Given the description of an element on the screen output the (x, y) to click on. 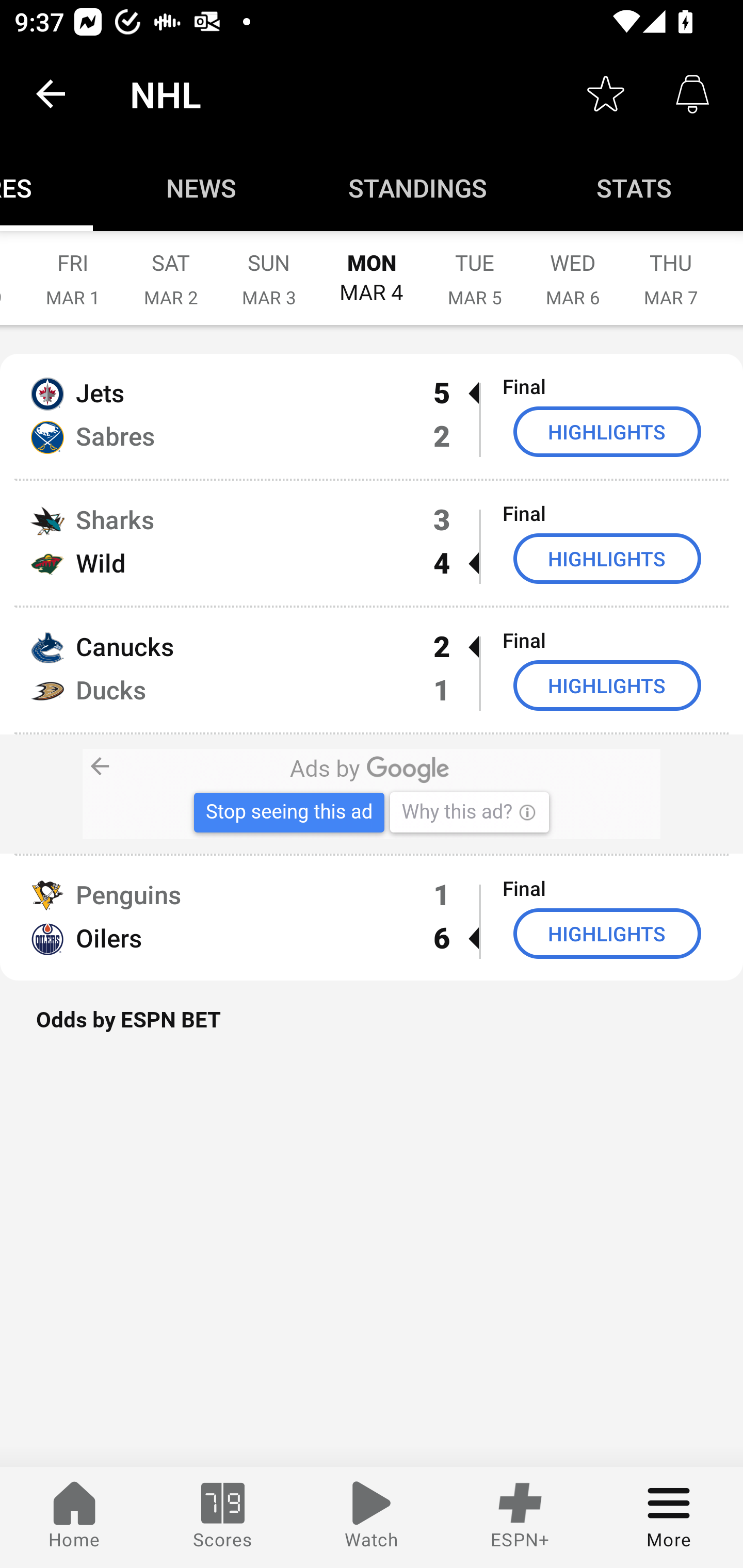
back.button (50, 93)
Favorite toggle (605, 93)
Alerts (692, 93)
News NEWS (200, 187)
Standings STANDINGS (417, 187)
Stats STATS (634, 187)
FRI MAR 1 (72, 268)
SAT MAR 2 (170, 268)
SUN MAR 3 (268, 268)
MON MAR 4 (371, 267)
TUE MAR 5 (474, 268)
WED MAR 6 (572, 268)
THU MAR 7 (670, 268)
Jets 5  Final Sabres 2 HIGHLIGHTS (371, 416)
HIGHLIGHTS (607, 431)
Sharks 3 Final Wild 4  HIGHLIGHTS (371, 543)
HIGHLIGHTS (607, 558)
Canucks 2  Final Ducks 1 HIGHLIGHTS (371, 670)
HIGHLIGHTS (607, 685)
Penguins 1 Final Oilers 6  HIGHLIGHTS (371, 918)
HIGHLIGHTS (607, 933)
Odds by ESPN BET (371, 1030)
Home (74, 1517)
Scores (222, 1517)
Watch (371, 1517)
ESPN+ (519, 1517)
